Given the description of an element on the screen output the (x, y) to click on. 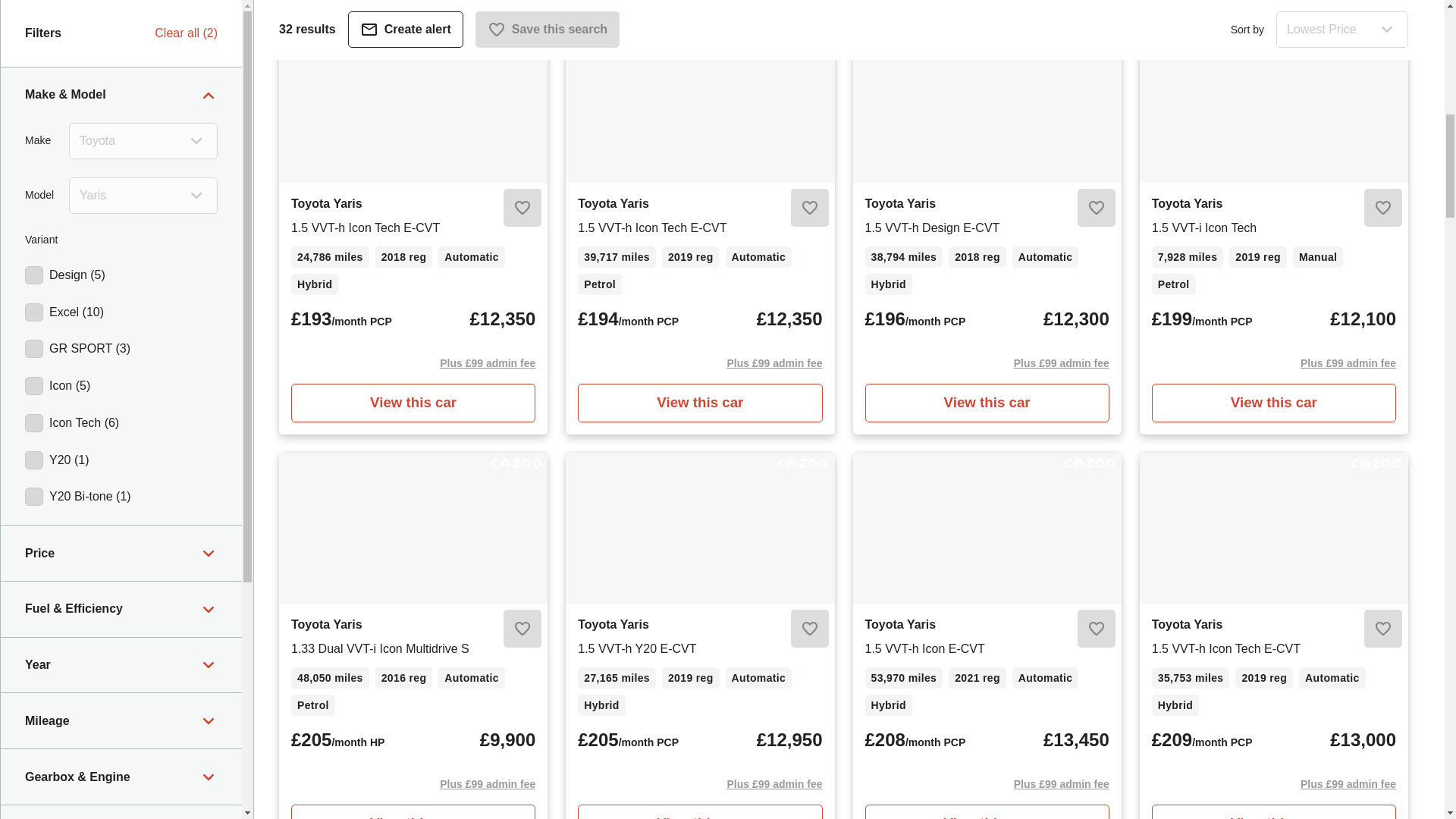
Save to favourites (1096, 207)
Save to favourites (1383, 207)
Save to favourites (522, 207)
Save to favourites (809, 207)
